Given the description of an element on the screen output the (x, y) to click on. 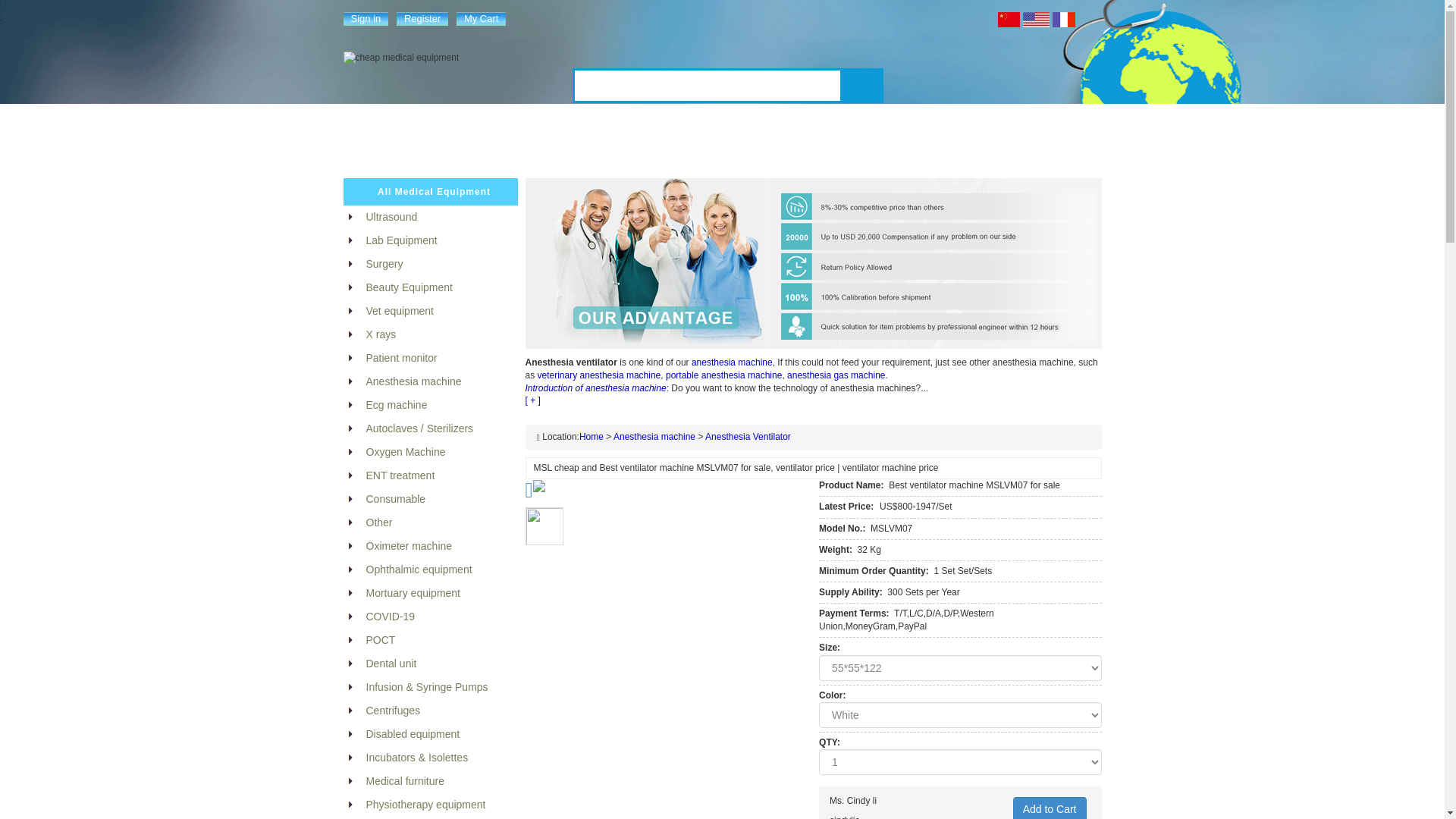
Chinese (1008, 19)
All Products (433, 148)
Sign in (365, 18)
Lab Equipment (582, 148)
Francais (1063, 19)
Home (376, 148)
Ultrasound (504, 148)
English (1036, 19)
My Cart (481, 18)
Register (422, 18)
